Given the description of an element on the screen output the (x, y) to click on. 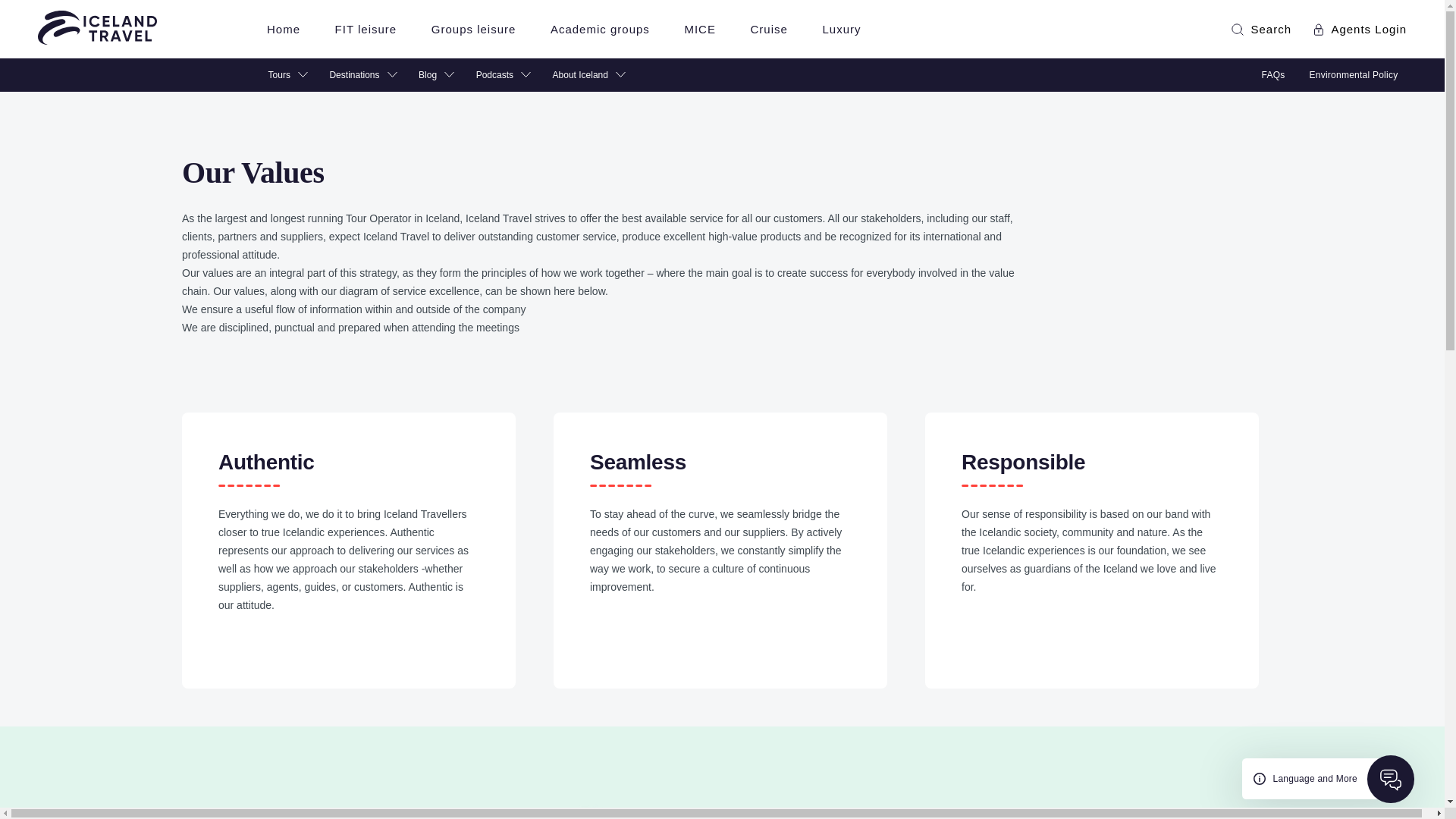
Environmental Policy (1341, 75)
Cruise (769, 29)
Luxury (841, 29)
Academic groups (599, 29)
FIT leisure (365, 29)
Home (282, 29)
Groups leisure (473, 29)
FAQs (1273, 75)
MICE (700, 29)
